Given the description of an element on the screen output the (x, y) to click on. 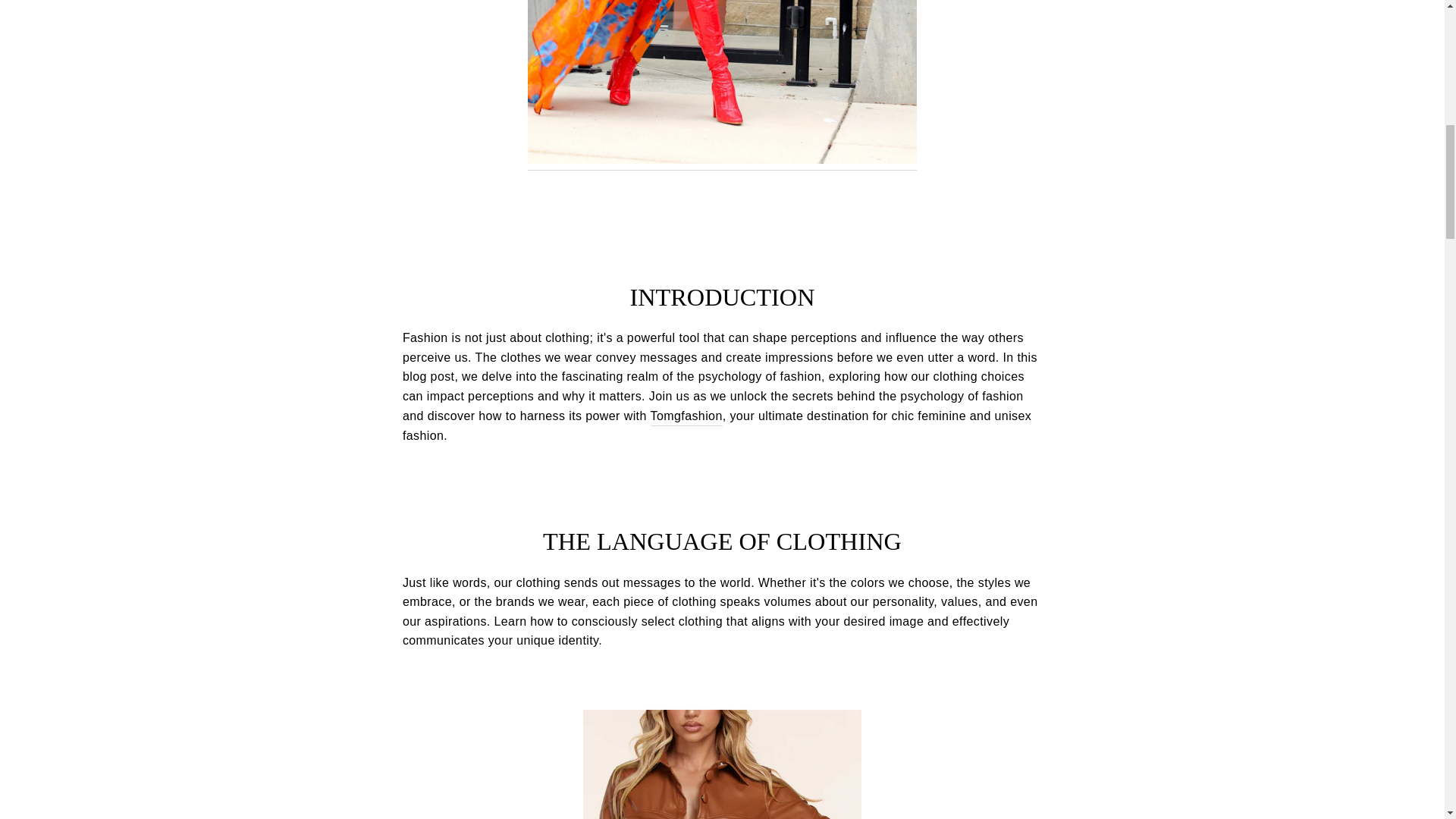
KNITTED FRINGE KIMONO PONCHO  (722, 85)
CAMEL PU LEATHER MINI DRESS (722, 763)
